Given the description of an element on the screen output the (x, y) to click on. 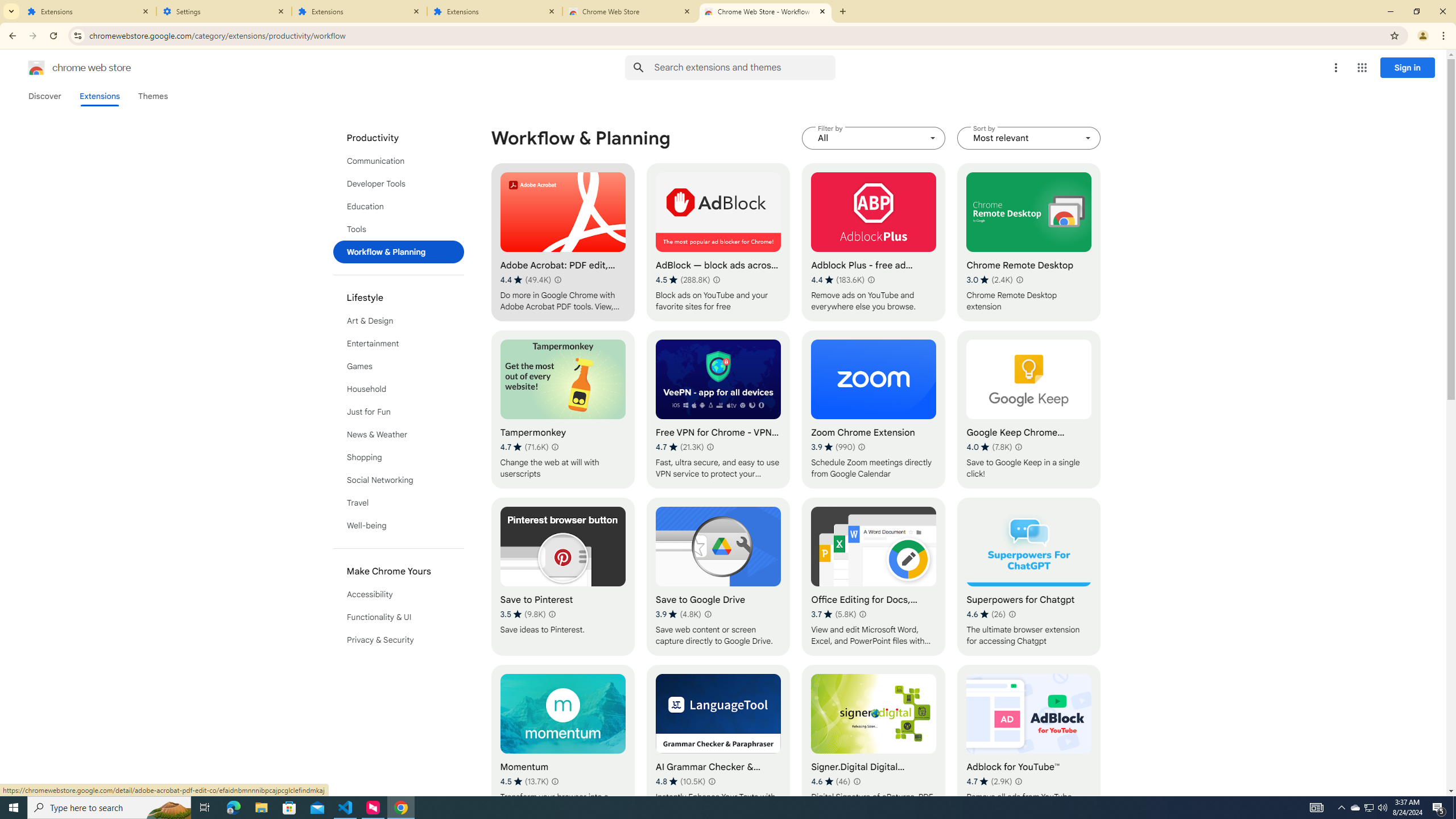
List of categories in Chrome Web Store. (398, 388)
Learn more about results and reviews "Momentum" (555, 780)
Chrome Remote Desktop (1028, 241)
Tampermonkey (562, 409)
Communication (398, 160)
Average rating 3.5 out of 5 stars. 9.8K ratings. (522, 613)
Chrome Web Store logo (36, 67)
More options menu (1335, 67)
Free VPN for Chrome - VPN Proxy VeePN (718, 409)
Developer Tools (398, 182)
